Given the description of an element on the screen output the (x, y) to click on. 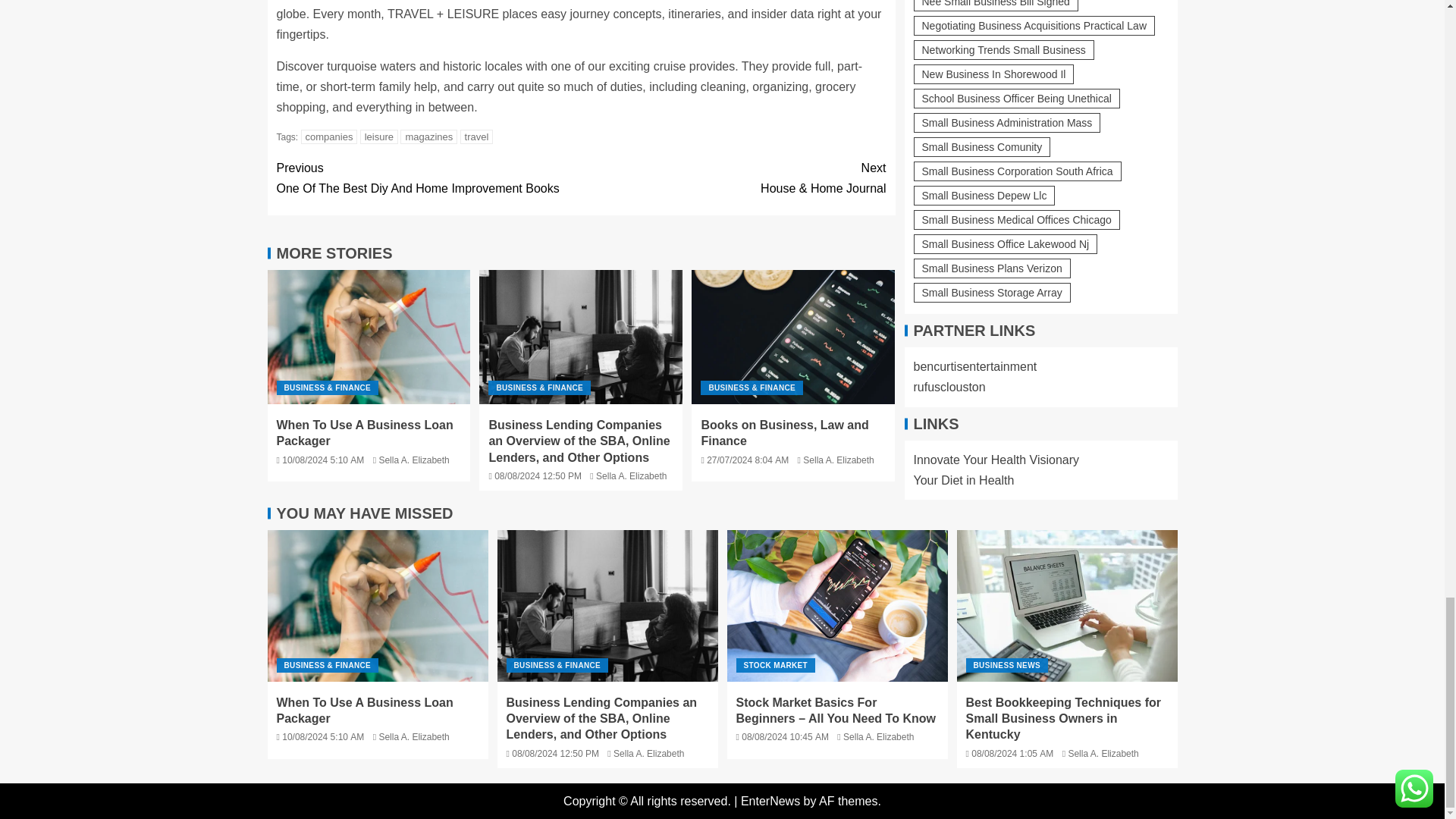
When To Use A Business Loan Packager (368, 337)
leisure (378, 136)
travel (476, 136)
When To Use A Business Loan Packager (376, 605)
magazines (428, 136)
Books on Business, Law and Finance (793, 337)
companies (329, 136)
